Given the description of an element on the screen output the (x, y) to click on. 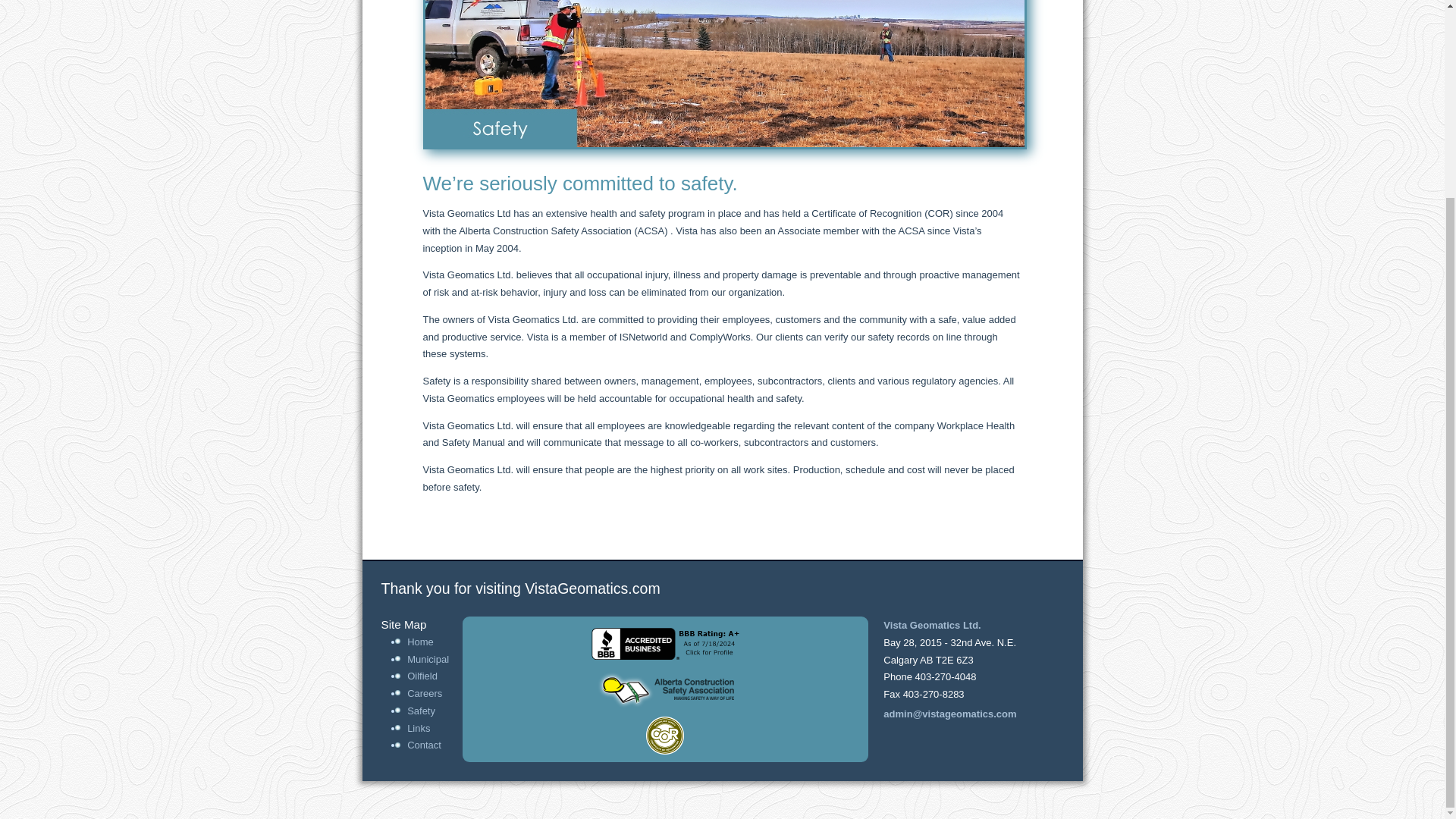
Alberta Construction Safety Association (664, 689)
Municipal (427, 659)
Links (418, 727)
Careers (424, 693)
Contact (424, 745)
Safety (421, 710)
Home (420, 641)
Oilfield (422, 675)
Vista Geomatics Ltd. (931, 624)
Certificate of Recognition (665, 735)
